Given the description of an element on the screen output the (x, y) to click on. 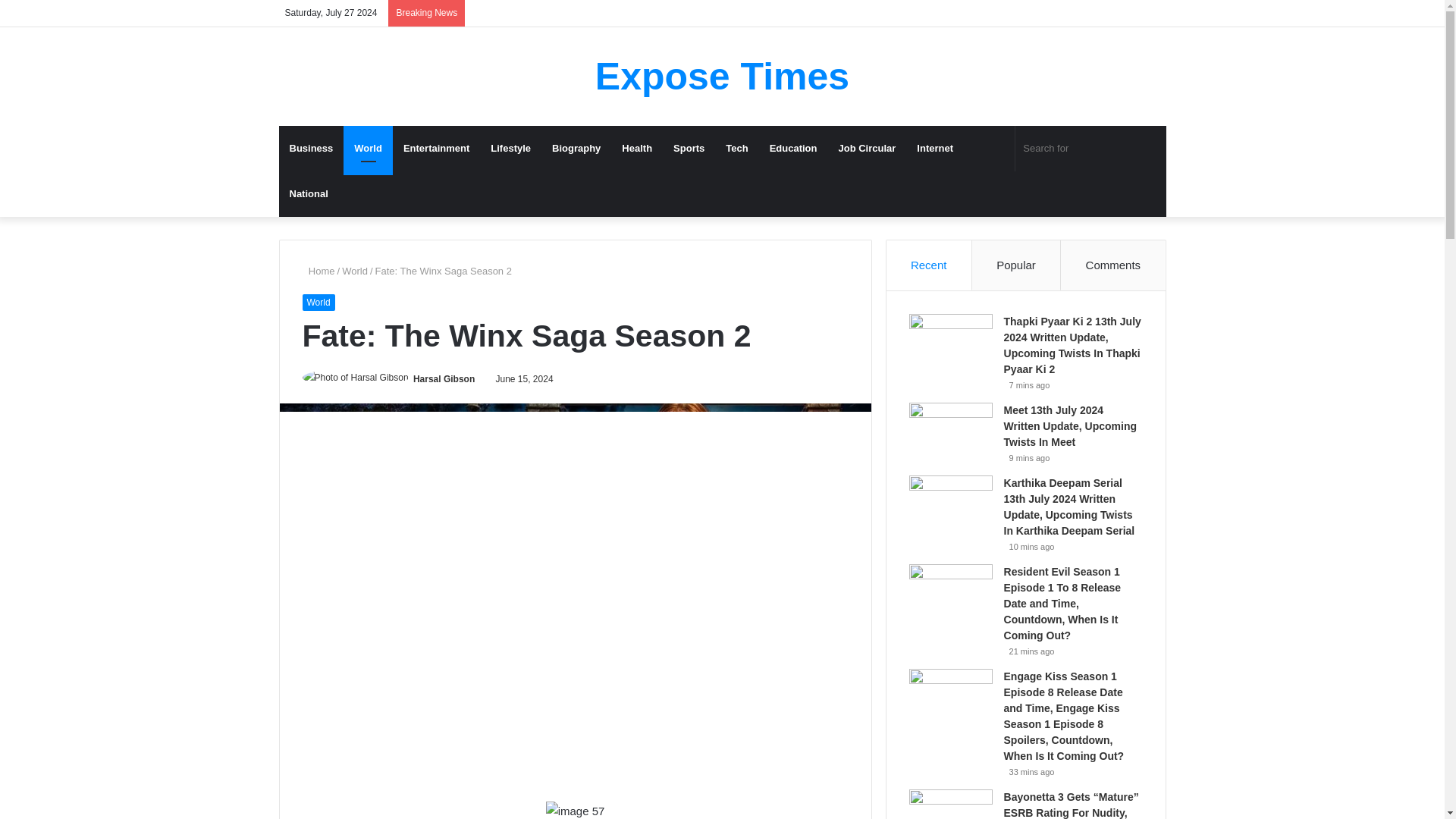
Tech (736, 148)
Biography (576, 148)
Business (311, 148)
Search for (1150, 148)
Job Circular (867, 148)
Search for (1090, 148)
National (309, 194)
Harsal Gibson (443, 378)
Expose Times (721, 76)
Sidebar (1154, 13)
World (368, 148)
World (317, 302)
Health (636, 148)
Entertainment (436, 148)
Random Article (1131, 13)
